Given the description of an element on the screen output the (x, y) to click on. 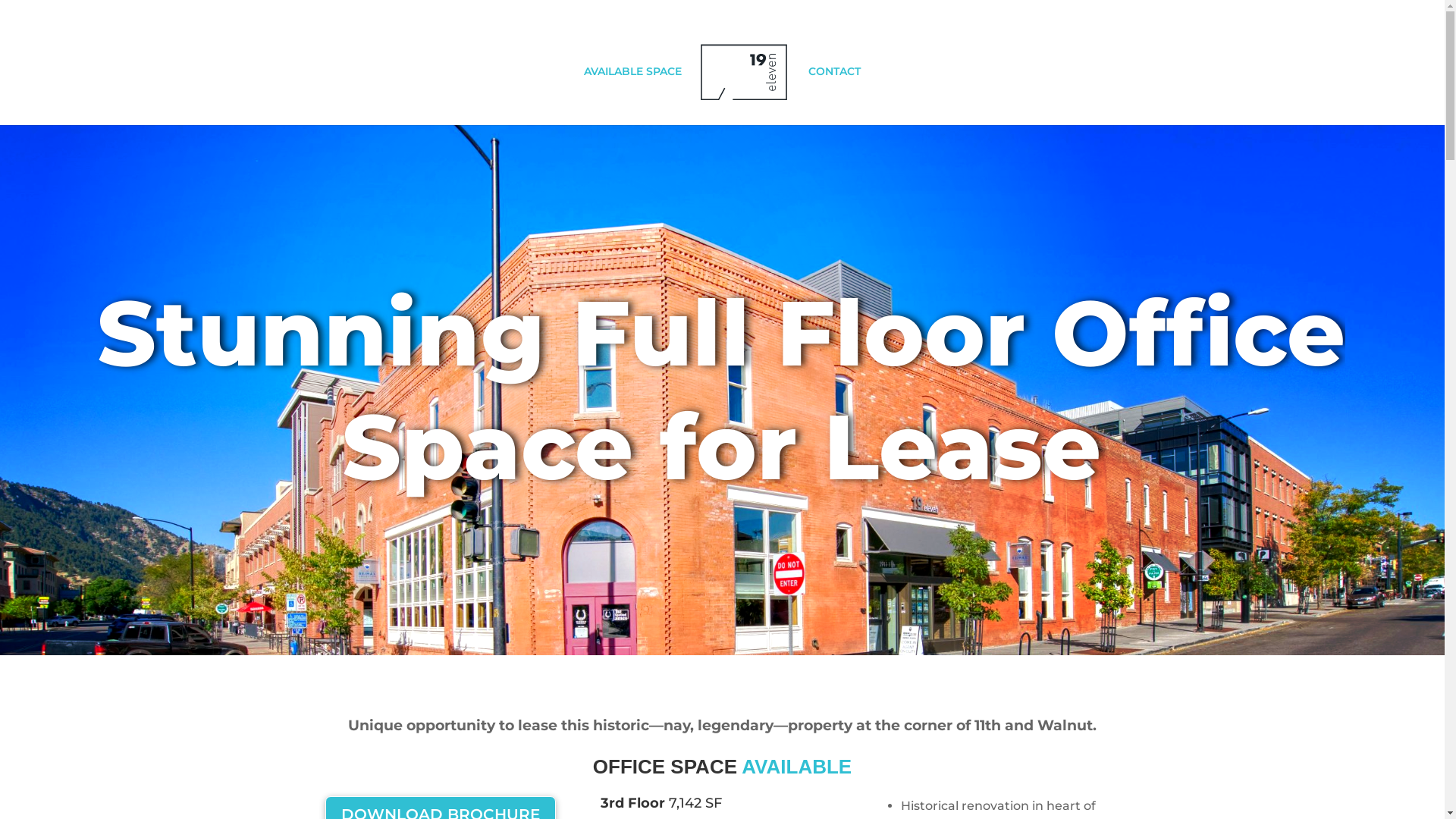
CONTACT Element type: text (834, 95)
AVAILABLE SPACE Element type: text (632, 95)
